Given the description of an element on the screen output the (x, y) to click on. 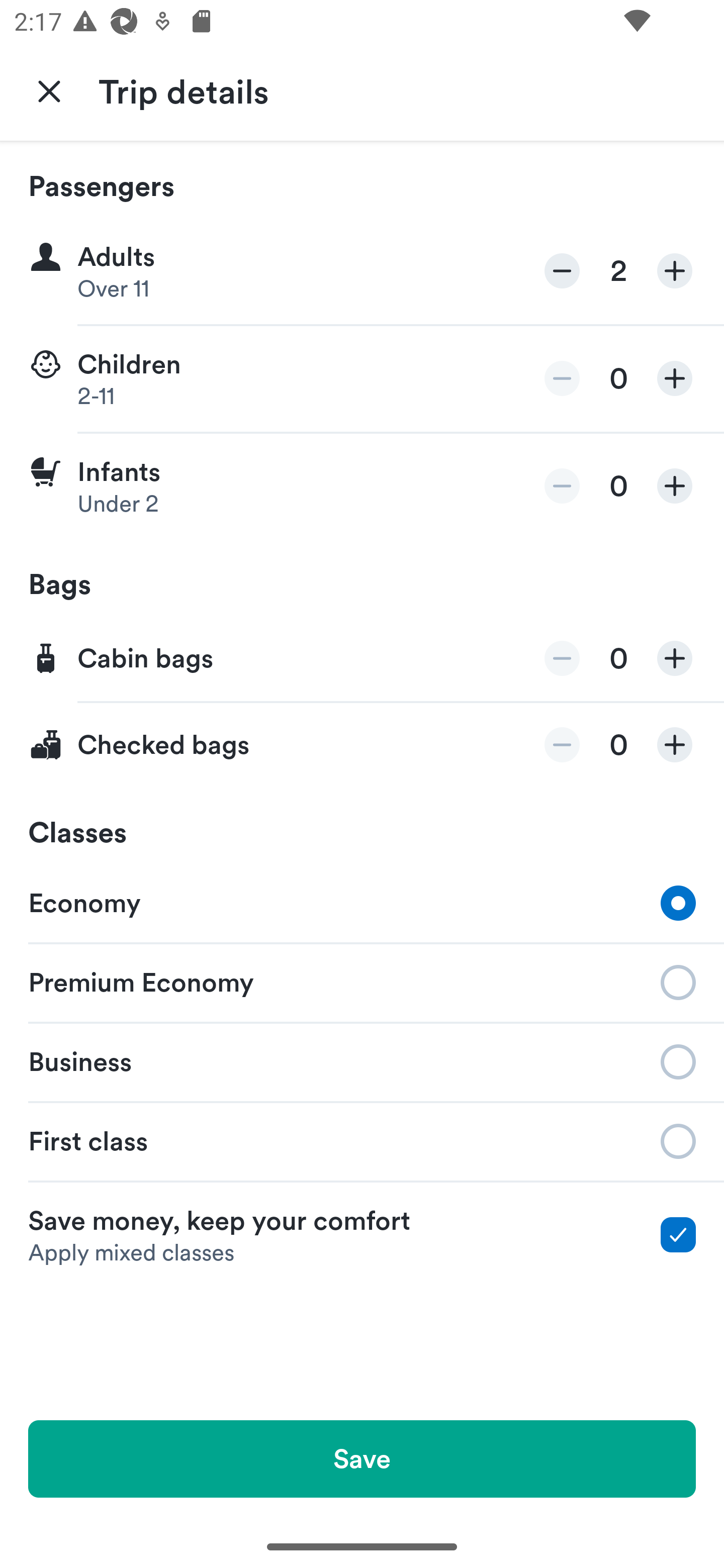
Navigate up (49, 90)
Remove 2 Add Adults Over 11 (362, 271)
Remove (561, 270)
Add (674, 270)
Remove 0 Add Children 2-11 (362, 379)
Remove (561, 377)
Add (674, 377)
Remove 0 Add Infants Under 2 (362, 485)
Remove (561, 485)
Add (674, 485)
Remove 0 Add Cabin bags (362, 659)
Remove (561, 658)
Add (674, 658)
Remove 0 Add Checked bags (362, 744)
Remove (561, 744)
Add (674, 744)
Premium Economy (362, 980)
Business (362, 1060)
First class (362, 1141)
Save (361, 1458)
